Given the description of an element on the screen output the (x, y) to click on. 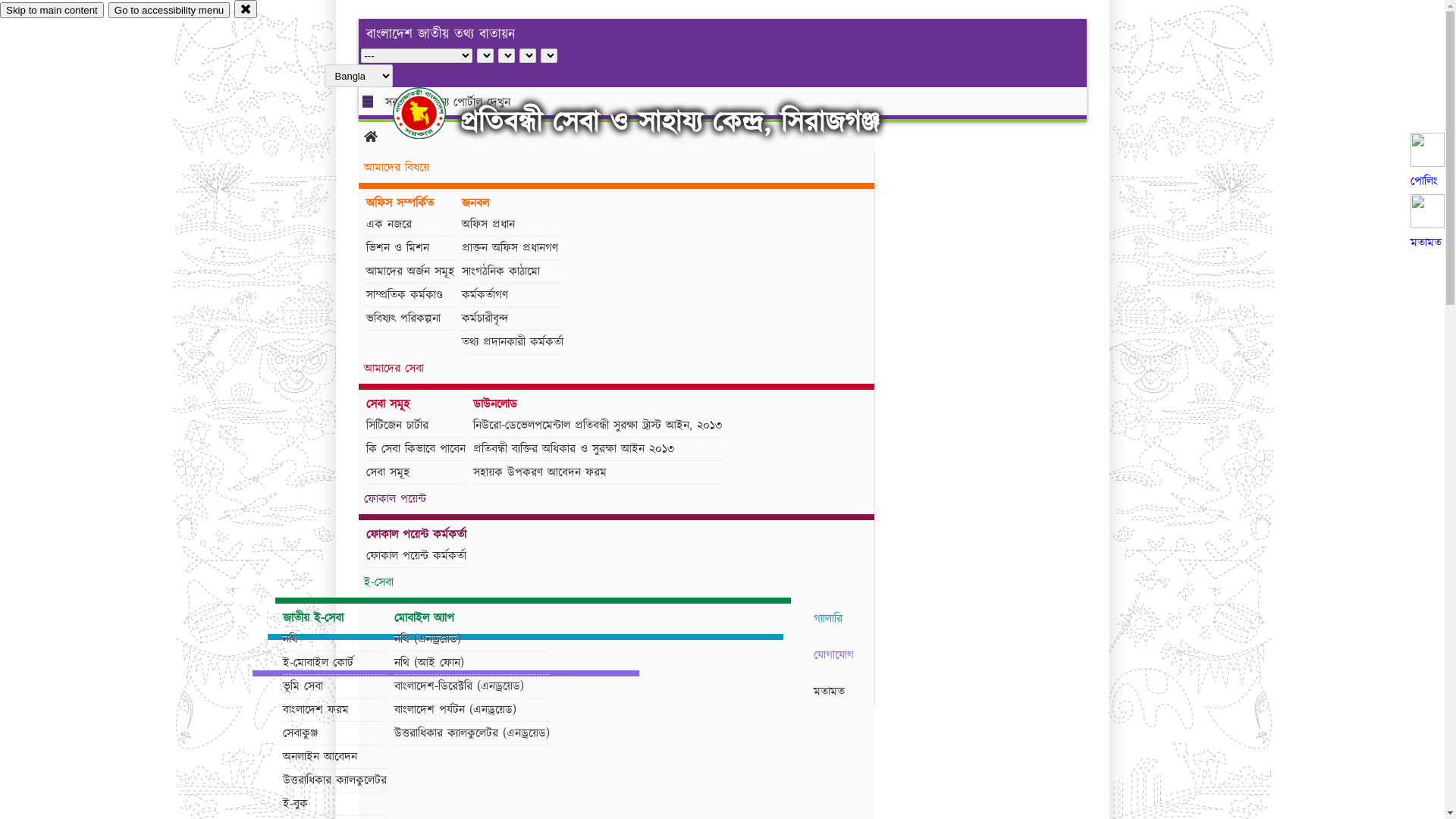

                
             Element type: hover (431, 112)
Skip to main content Element type: text (51, 10)
close Element type: hover (245, 9)
Go to accessibility menu Element type: text (168, 10)
